Given the description of an element on the screen output the (x, y) to click on. 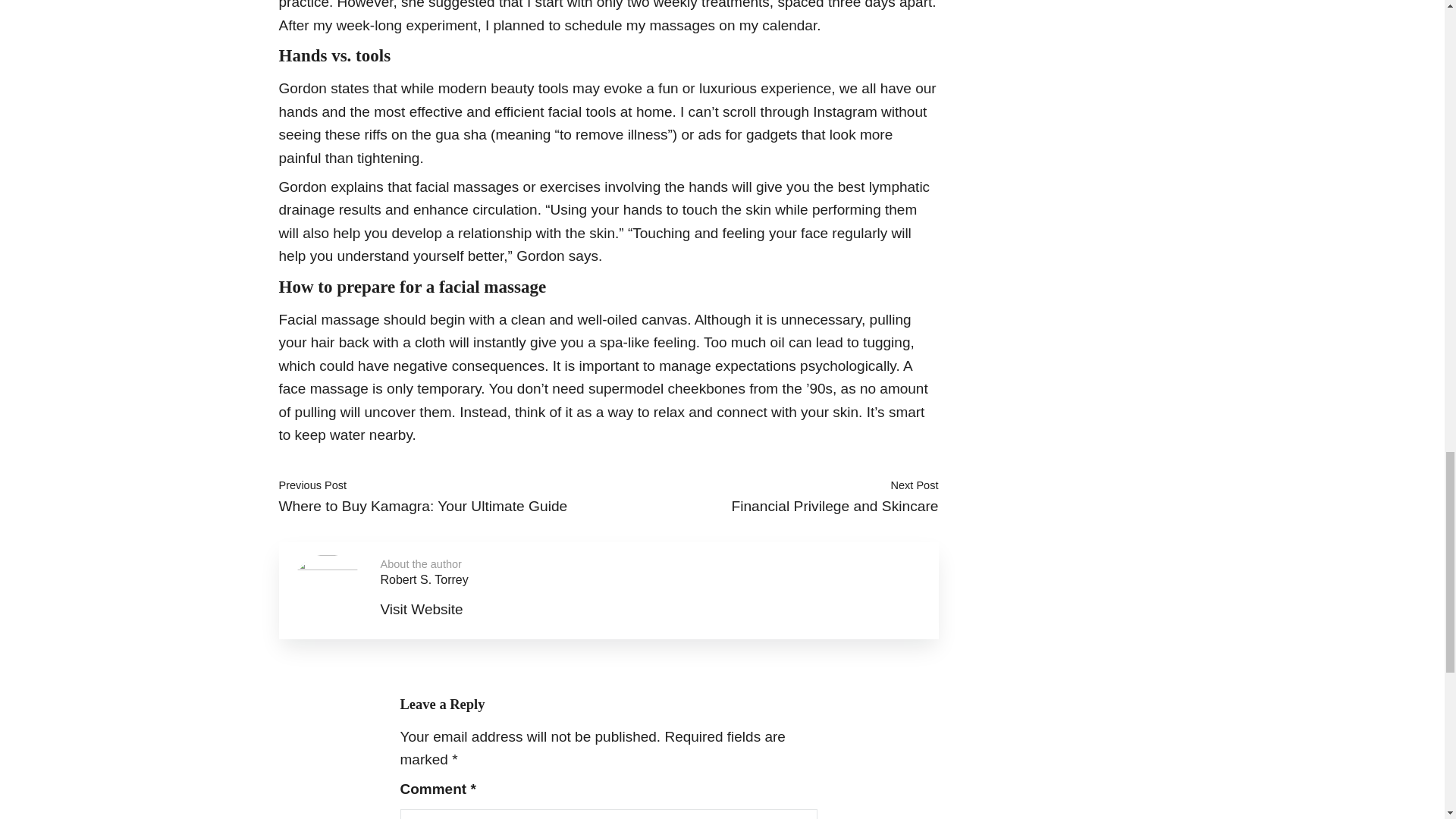
Financial Privilege and Skincare (833, 505)
Previous Post (313, 485)
Visit Website (421, 609)
Where to Buy Kamagra: Your Ultimate Guide (423, 505)
Robert S. Torrey (424, 578)
Next Post (913, 485)
